Given the description of an element on the screen output the (x, y) to click on. 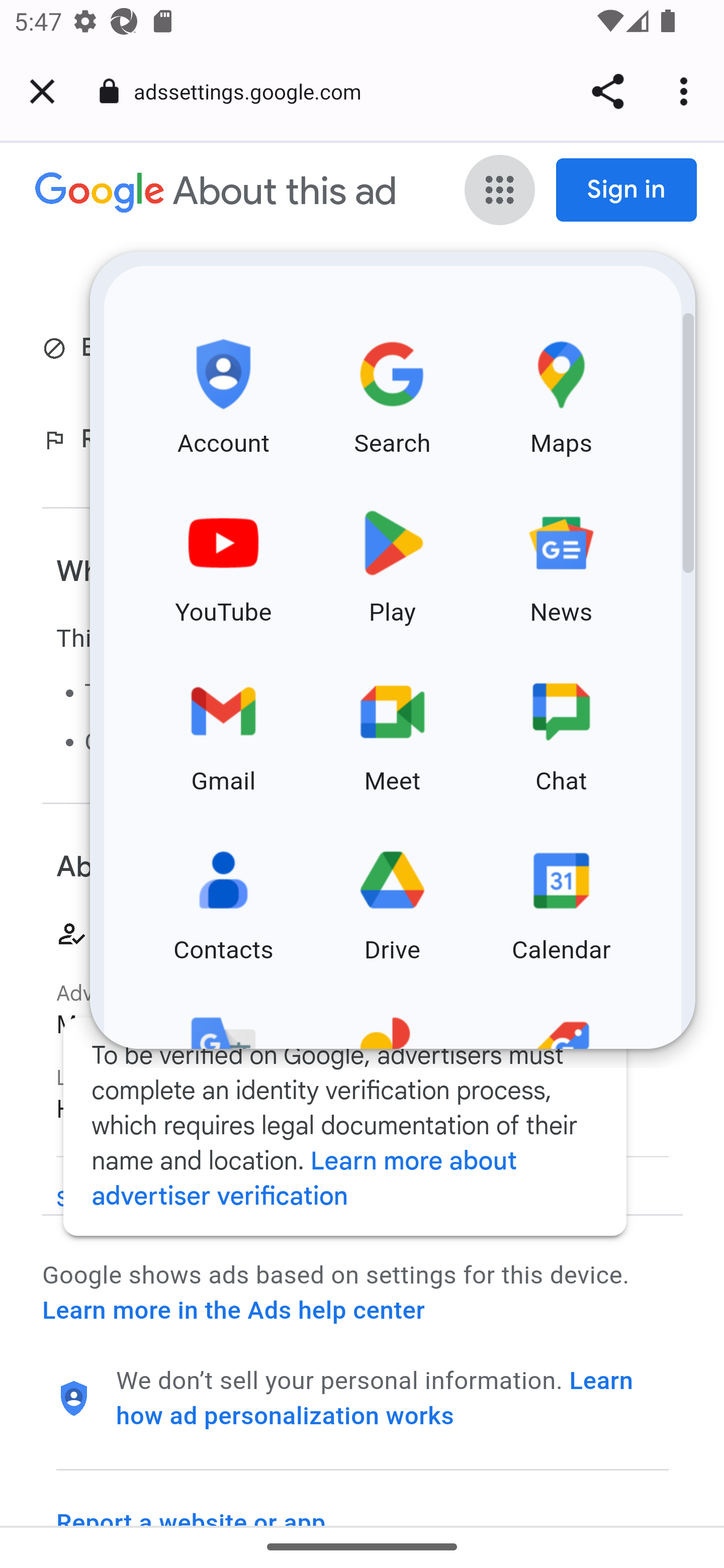
Close tab (42, 91)
Share (607, 91)
More options (687, 91)
Connection is secure (108, 91)
adssettings.google.com (254, 90)
Google apps (499, 191)
Sign in (627, 190)
Learn more in the Ads help center (233, 1310)
Learn how ad personalization works (374, 1398)
